Given the description of an element on the screen output the (x, y) to click on. 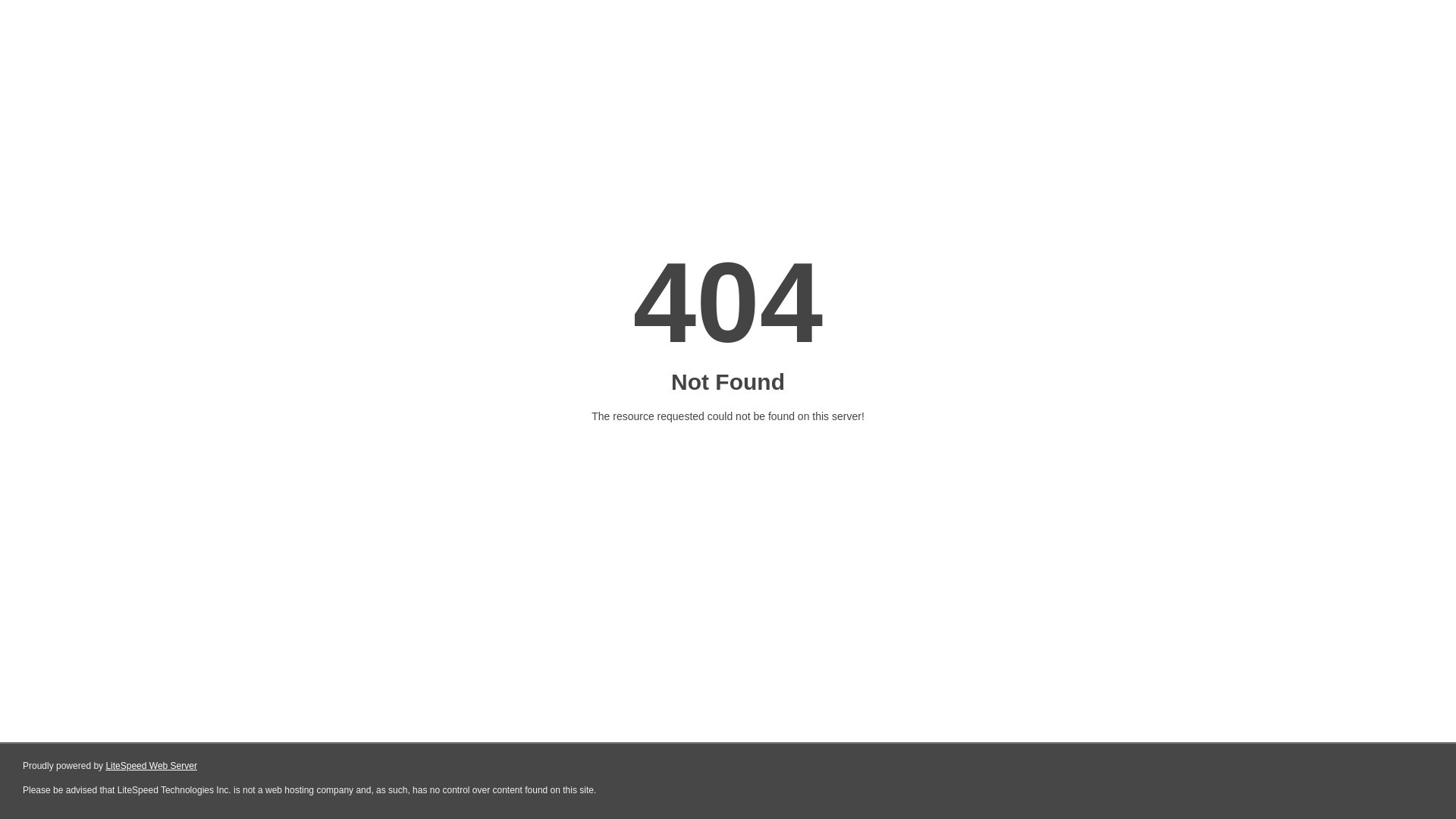
LiteSpeed Web Server Element type: text (151, 765)
